Given the description of an element on the screen output the (x, y) to click on. 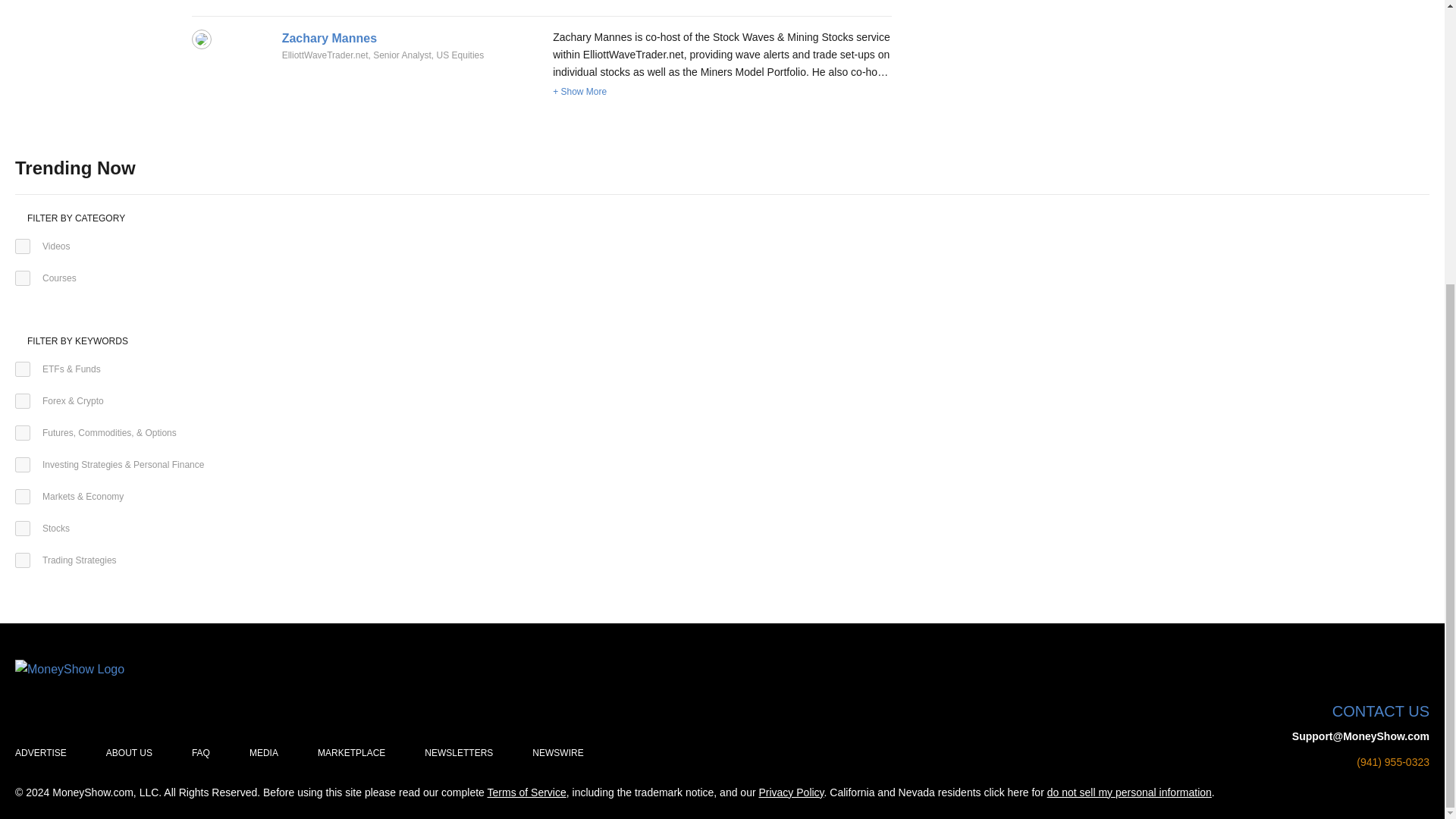
Trading Strategies (22, 560)
Courses (22, 278)
Stocks (22, 528)
Zachary Mannes (329, 38)
Videos (22, 246)
